Given the description of an element on the screen output the (x, y) to click on. 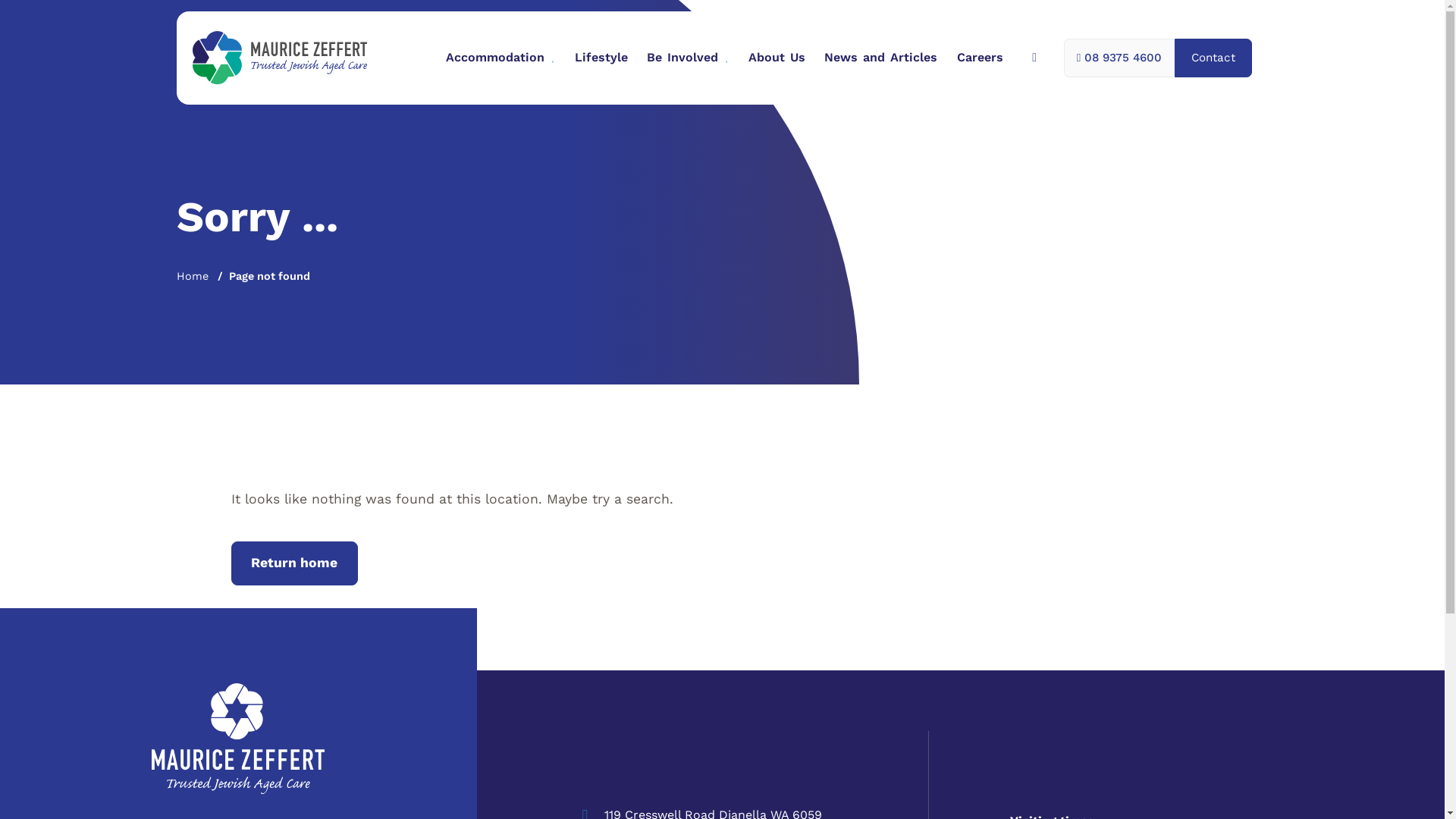
Careers Element type: text (980, 57)
Contact Element type: text (1213, 58)
Lifestyle Element type: text (600, 57)
Home Element type: text (191, 275)
Return home Element type: text (293, 563)
Accommodation Element type: text (500, 57)
Be Involved Element type: text (687, 57)
About Us Element type: text (776, 57)
News and Articles Element type: text (881, 57)
